Given the description of an element on the screen output the (x, y) to click on. 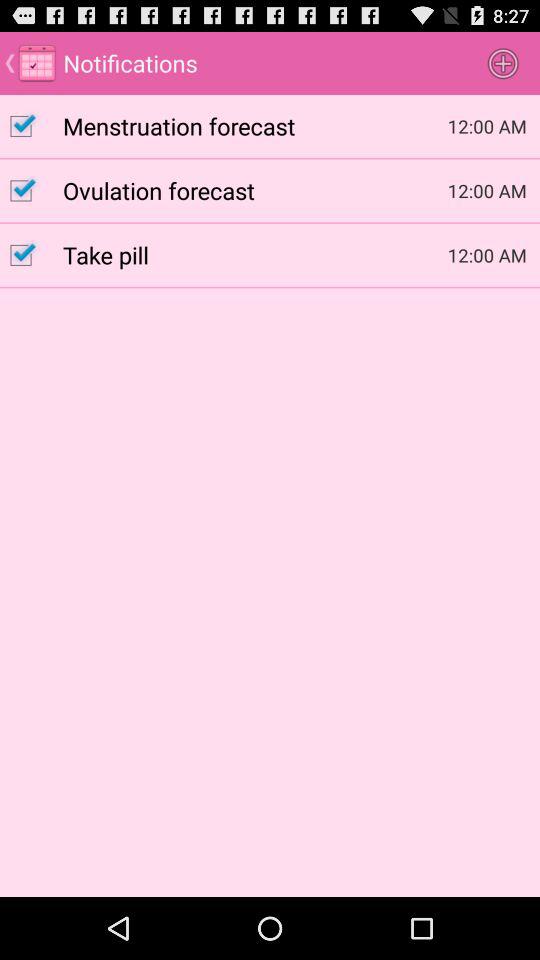
tap the icon next to 12:00 am app (255, 190)
